Given the description of an element on the screen output the (x, y) to click on. 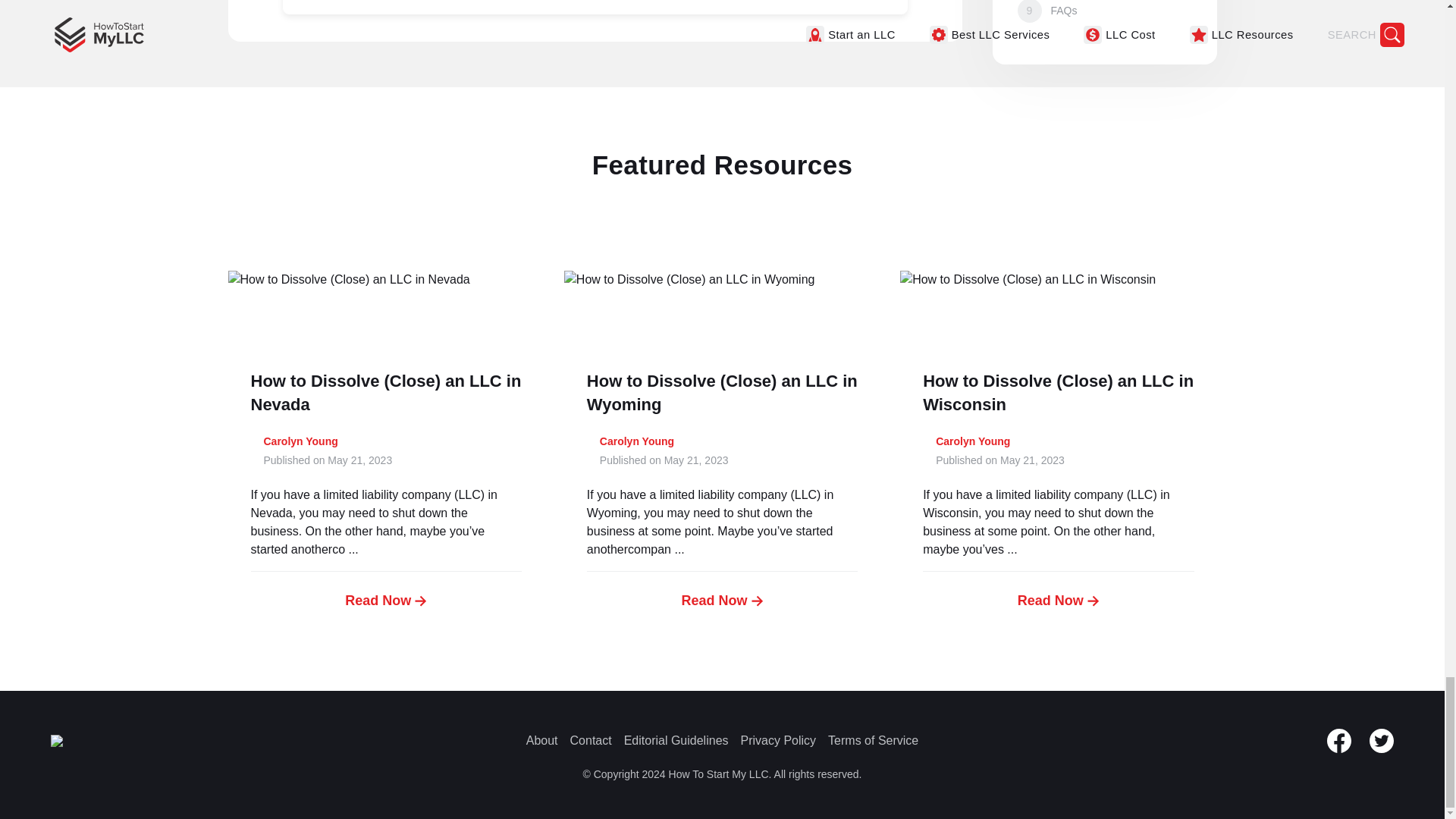
Privacy Policy (778, 739)
Terms of Service (873, 739)
About (541, 739)
Contact (590, 739)
Editorial Guidelines (676, 739)
